Given the description of an element on the screen output the (x, y) to click on. 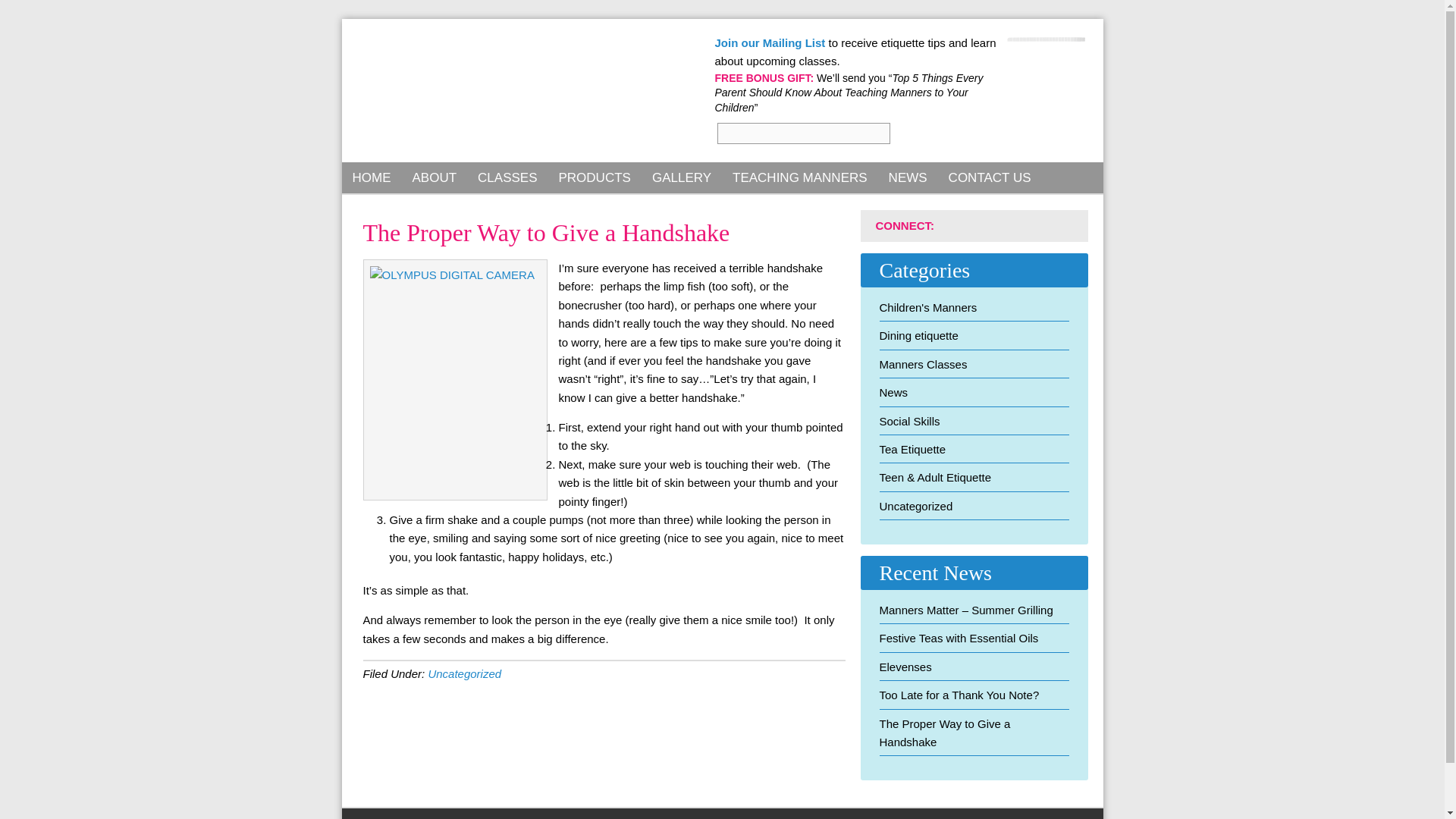
Elevenses (905, 666)
Facebook (959, 225)
Home (370, 177)
Youtube (1068, 225)
NEWS (907, 177)
Too Late for a Thank You Note? (959, 694)
About (434, 177)
Contact (989, 177)
Uncategorized (916, 505)
Dining etiquette (918, 335)
